Given the description of an element on the screen output the (x, y) to click on. 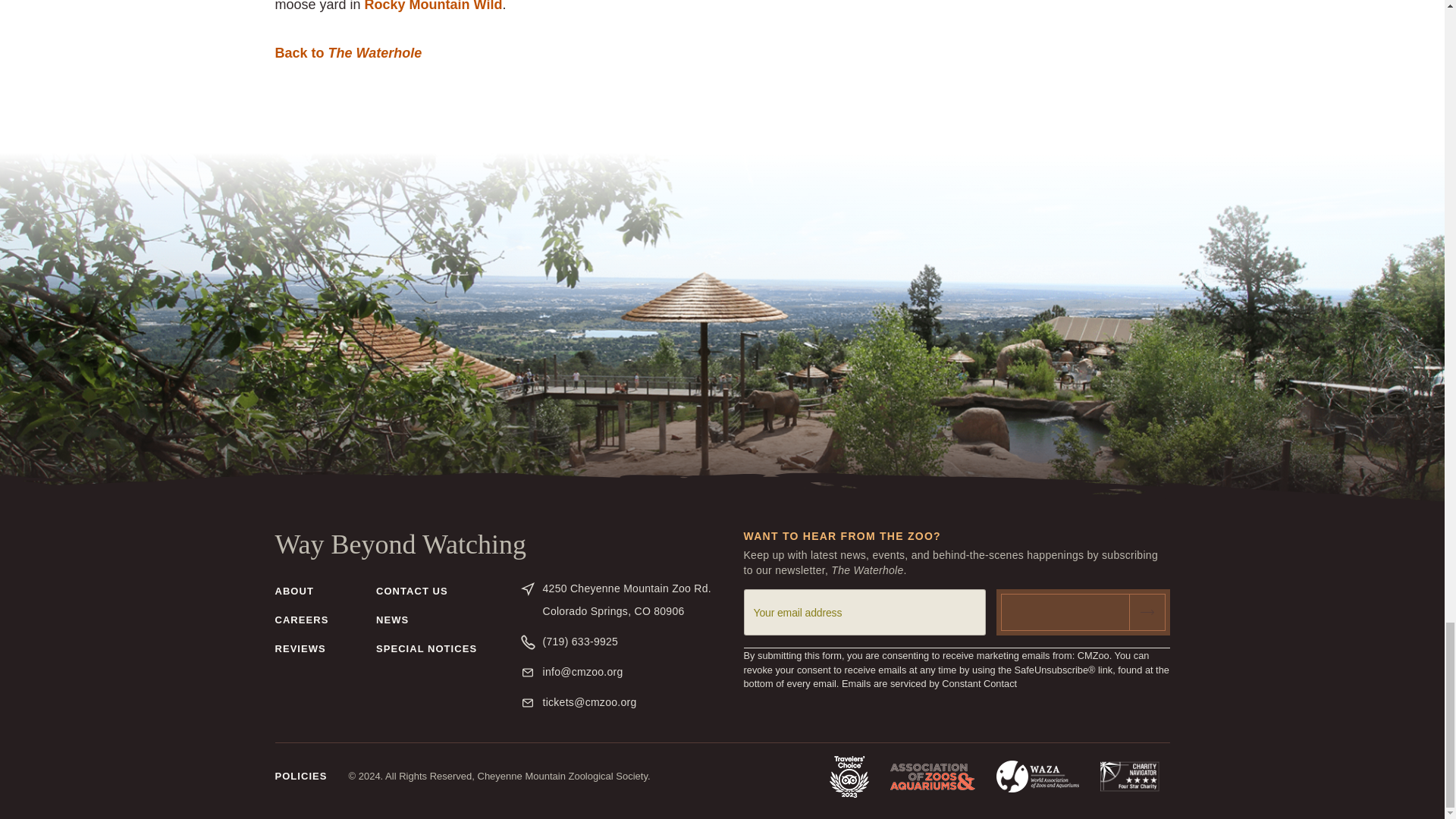
Subscribe (1082, 611)
SPECIAL NOTICES (426, 653)
CAREERS (302, 624)
Emails are serviced by Constant Contact (632, 600)
Subscribe (928, 683)
Back to The Waterhole (1082, 611)
ABOUT (348, 53)
REVIEWS (294, 595)
CONTACT US (299, 653)
